Given the description of an element on the screen output the (x, y) to click on. 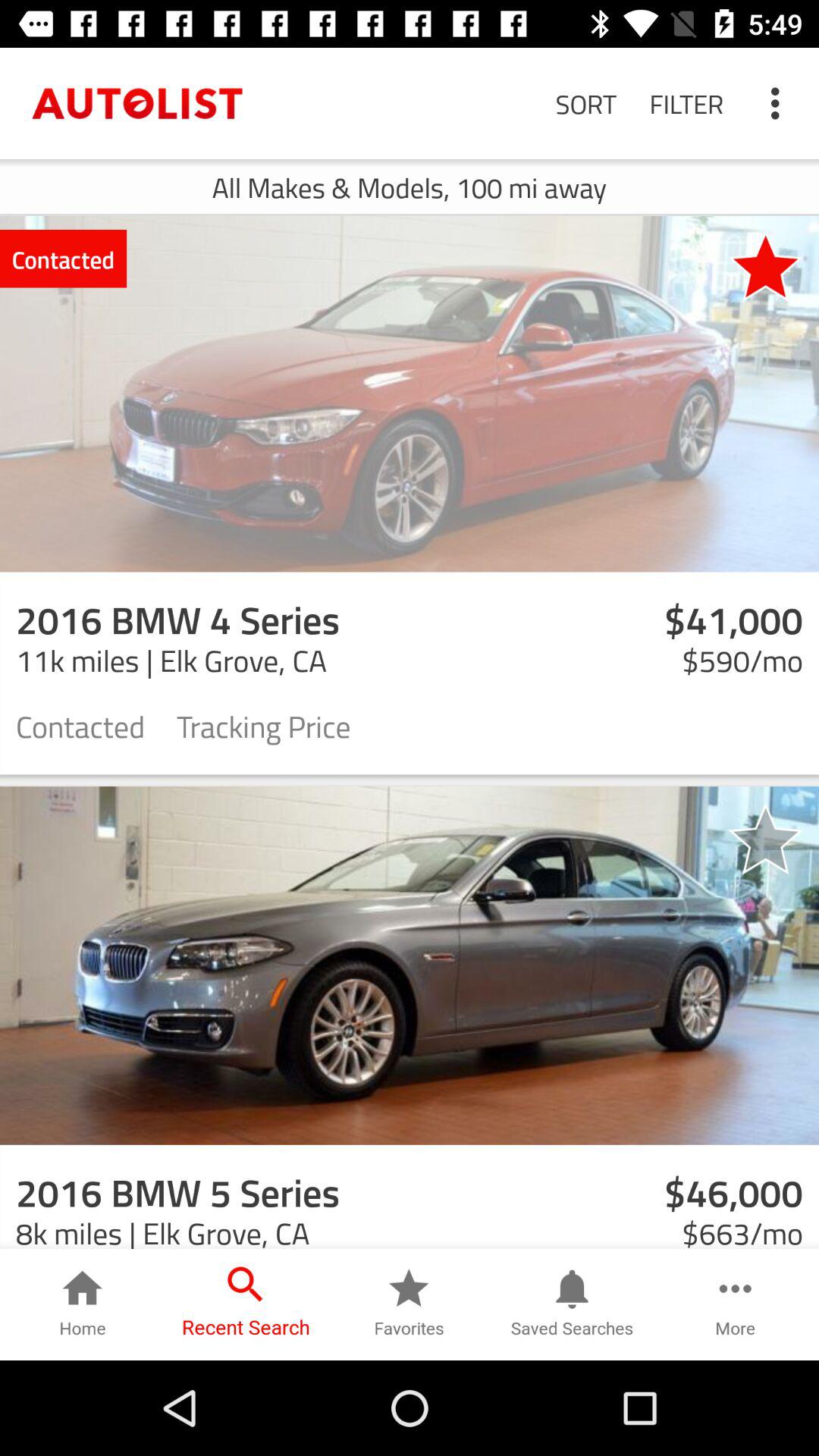
flip until tracking price (263, 725)
